Given the description of an element on the screen output the (x, y) to click on. 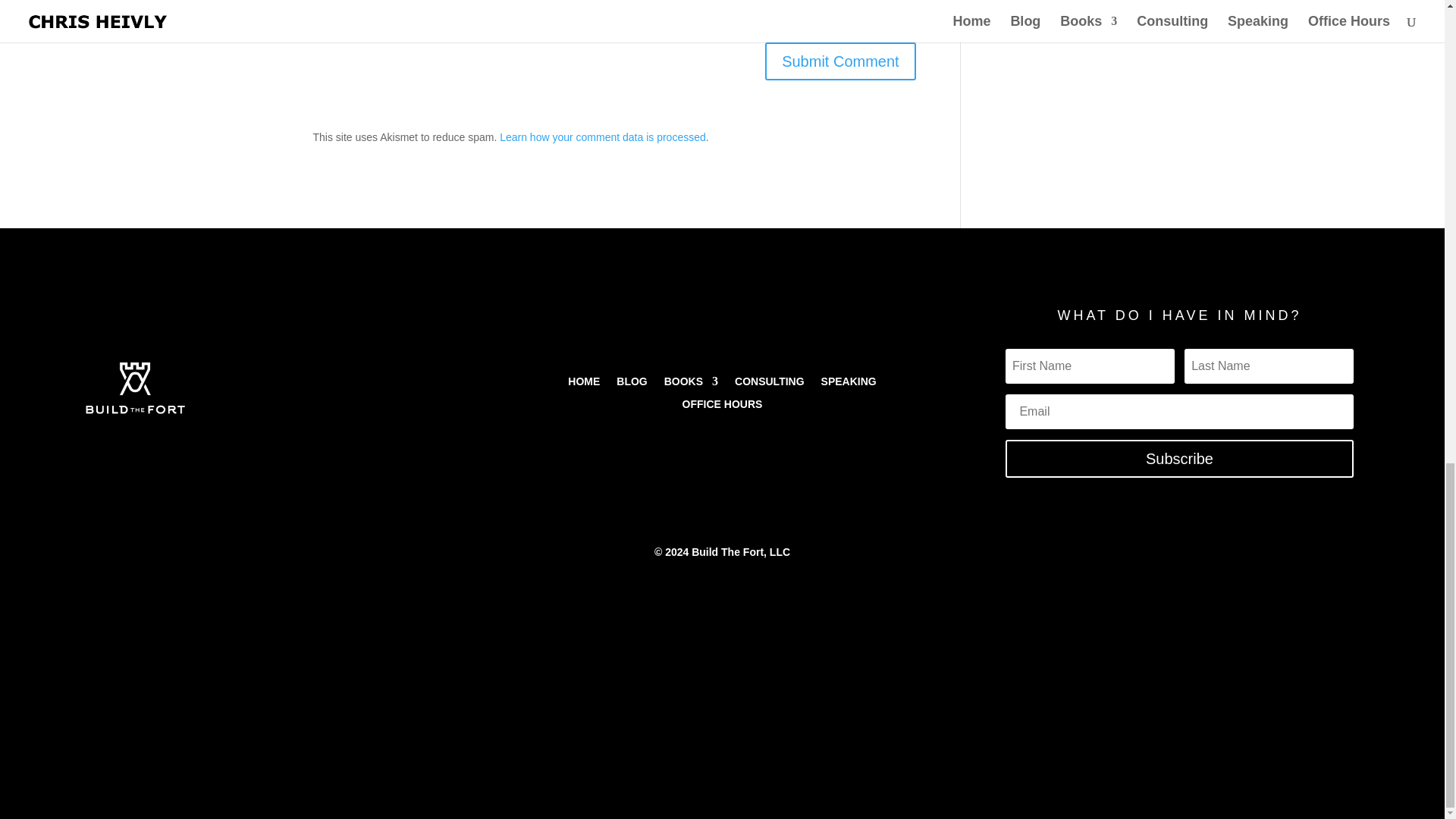
Learn how your comment data is processed (602, 137)
Submit Comment (840, 61)
BLOG (630, 384)
HOME (583, 384)
BOOKS (690, 384)
CONSULTING (770, 384)
BTF-WITHOUT-BACKGROUNDTRANSwht (134, 387)
Submit Comment (840, 61)
